Given the description of an element on the screen output the (x, y) to click on. 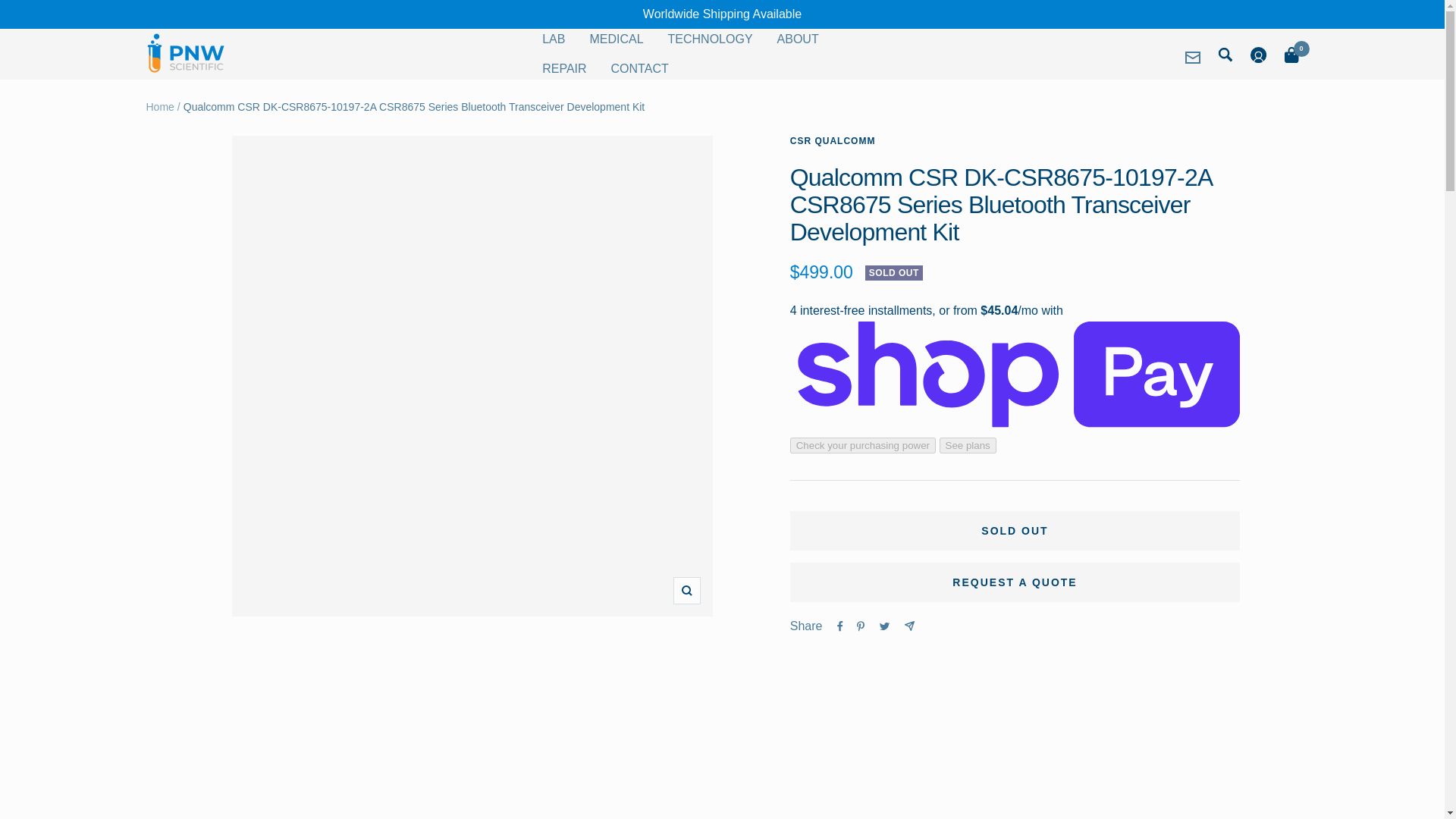
REPAIR (563, 68)
Newsletter (1192, 57)
MEDICAL (616, 38)
Zoom (686, 590)
ABOUT (797, 38)
PNW Scientific (185, 53)
TECHNOLOGY (710, 38)
0 (1291, 57)
LAB (552, 38)
Home (159, 106)
CONTACT (639, 68)
